Given the description of an element on the screen output the (x, y) to click on. 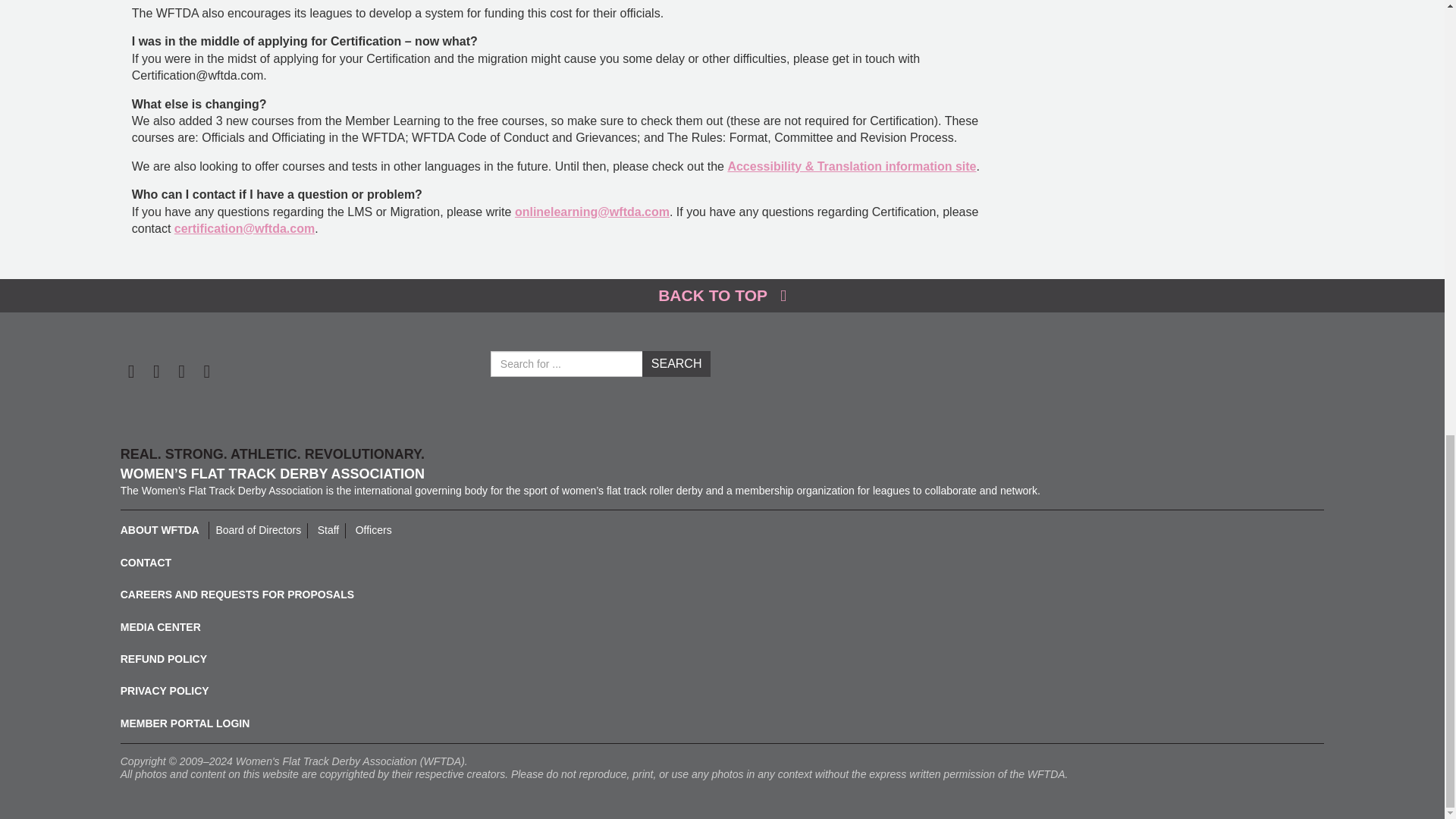
Search (676, 363)
